Given the description of an element on the screen output the (x, y) to click on. 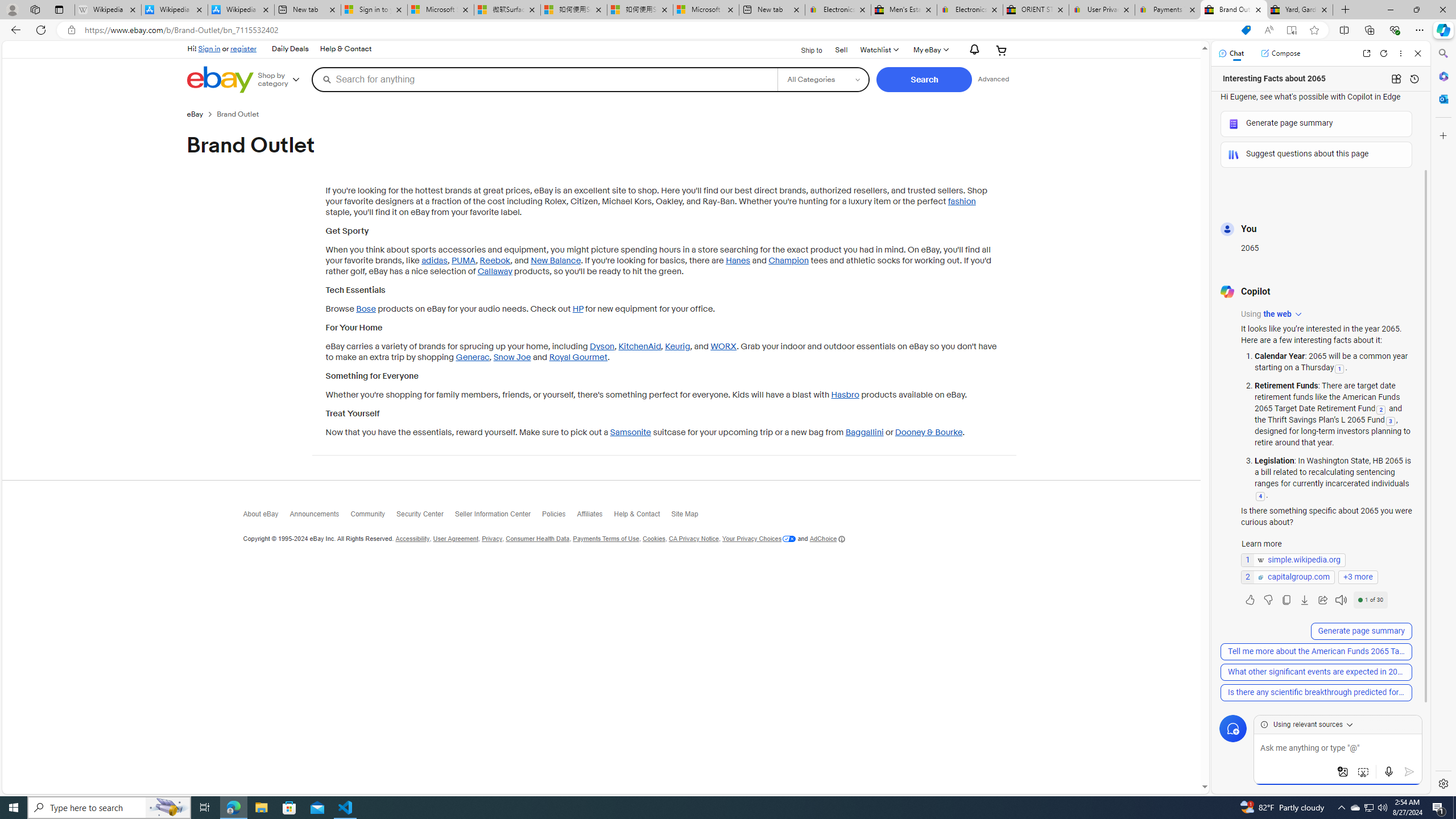
Help & Contact (641, 517)
Seller Information Center (498, 517)
Dooney & Bourke (927, 432)
Daily Deals (290, 49)
Brand Outlet (241, 113)
WORX (723, 346)
eBay Home (219, 79)
Compose (1280, 52)
CA Privacy Notice (693, 538)
Dyson (601, 346)
